Given the description of an element on the screen output the (x, y) to click on. 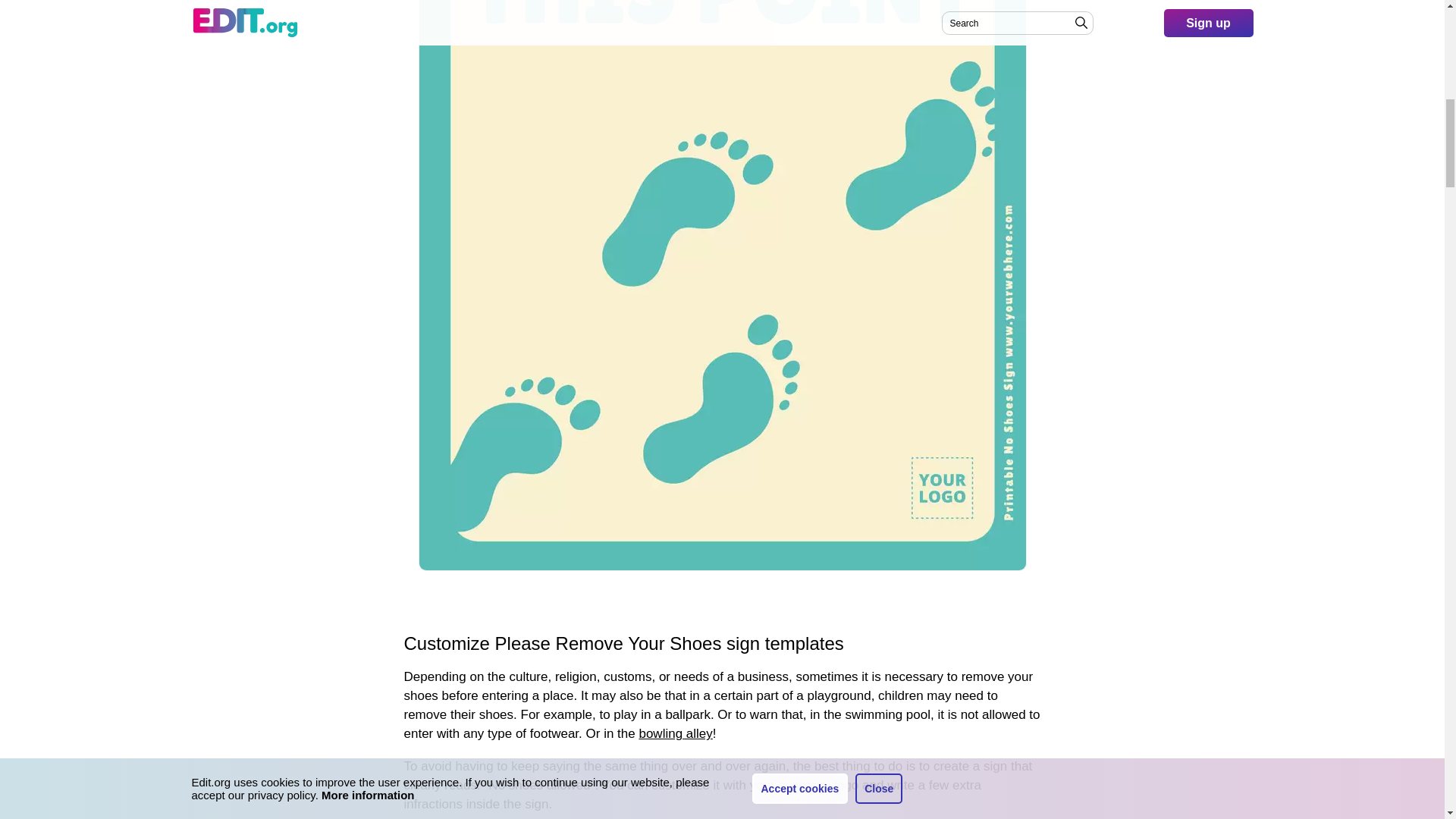
bowling alley (675, 733)
Bowling templates to edit online for free (675, 733)
